Given the description of an element on the screen output the (x, y) to click on. 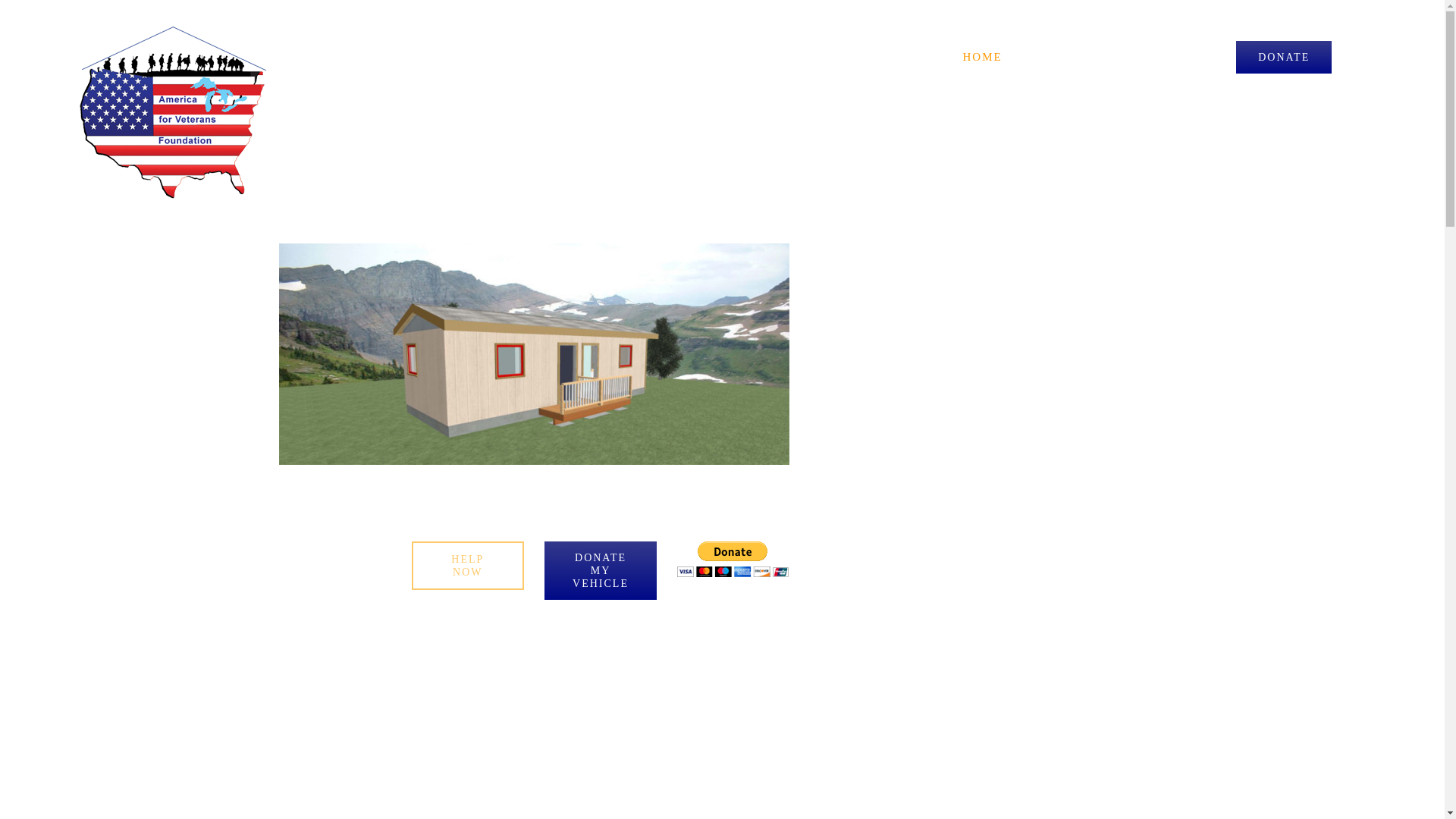
DONATE MY VEHICLE (600, 570)
Donate Your Vehicle to American for Veterans Foundation (600, 570)
vimeo306114935 (1052, 372)
HELP NOW (468, 565)
OUR MISSION (335, 565)
Veterans Village Housing (534, 354)
